Given the description of an element on the screen output the (x, y) to click on. 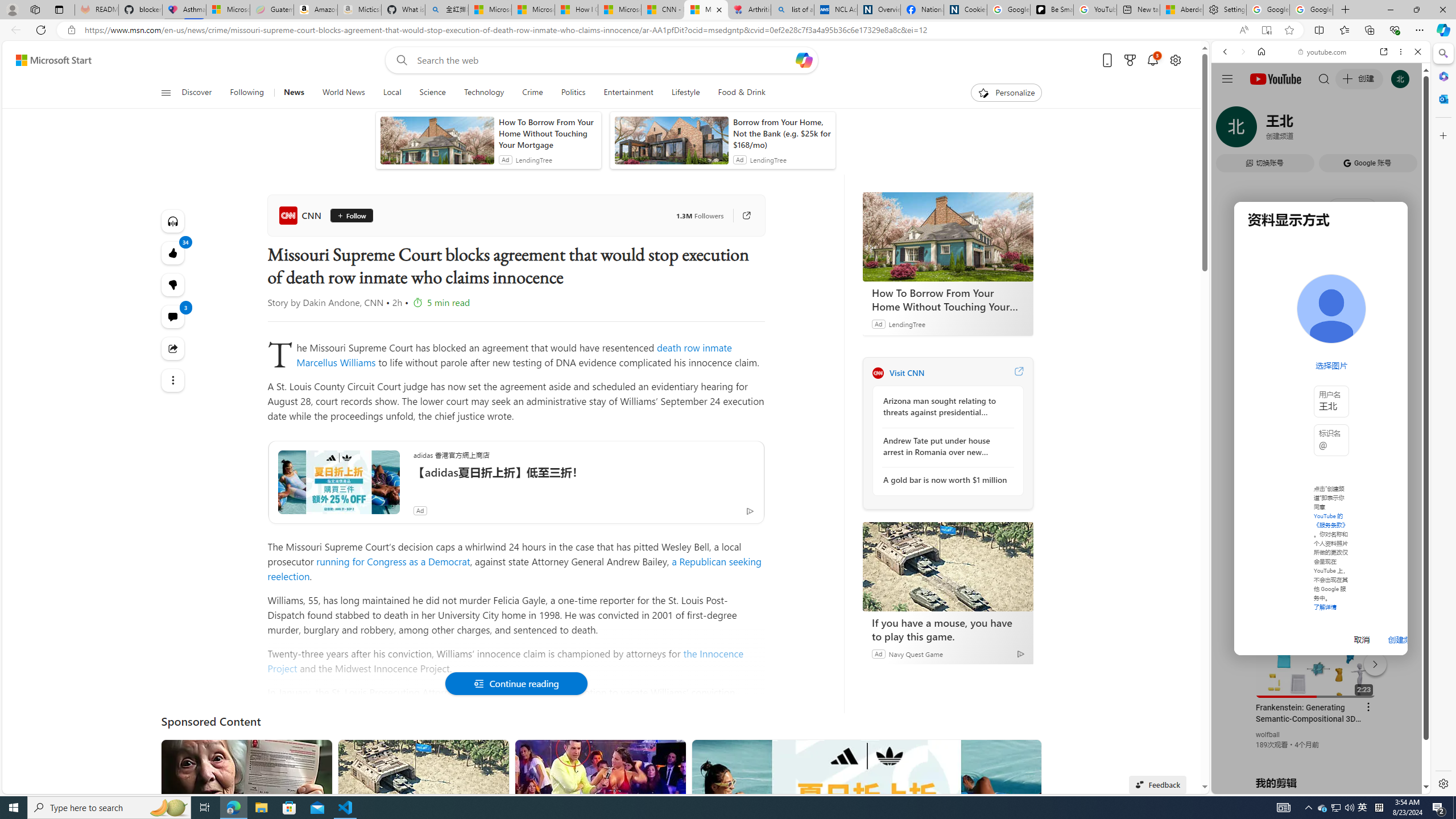
LendingTree (907, 323)
Cookies (965, 9)
How I Got Rid of Microsoft Edge's Unnecessary Features (576, 9)
